Given the description of an element on the screen output the (x, y) to click on. 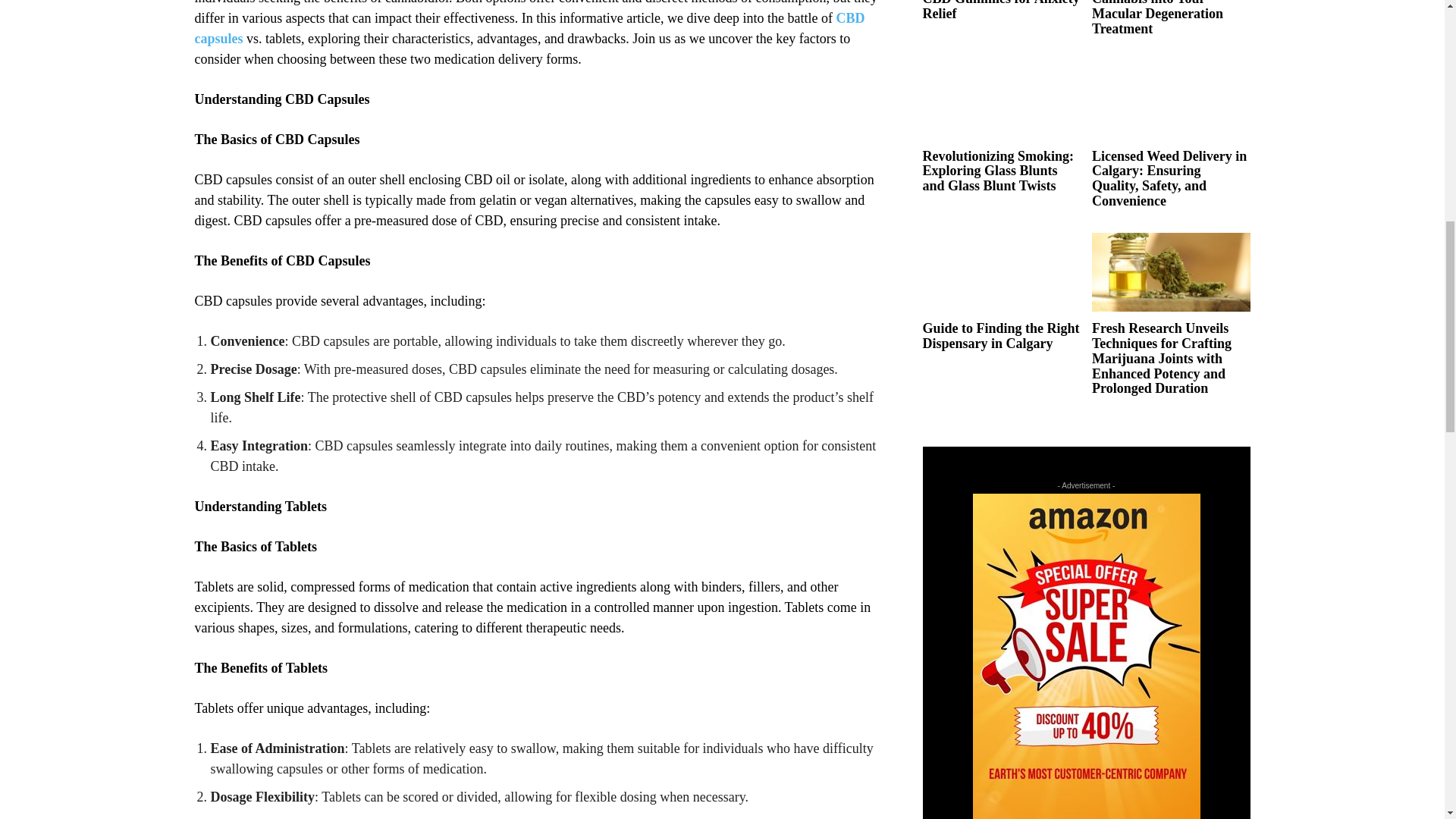
CBD capsules (528, 27)
How to Choose the Best CBD Gummies for Anxiety Relief (999, 10)
How to Choose the Best CBD Gummies for Anxiety Relief (999, 10)
